Given the description of an element on the screen output the (x, y) to click on. 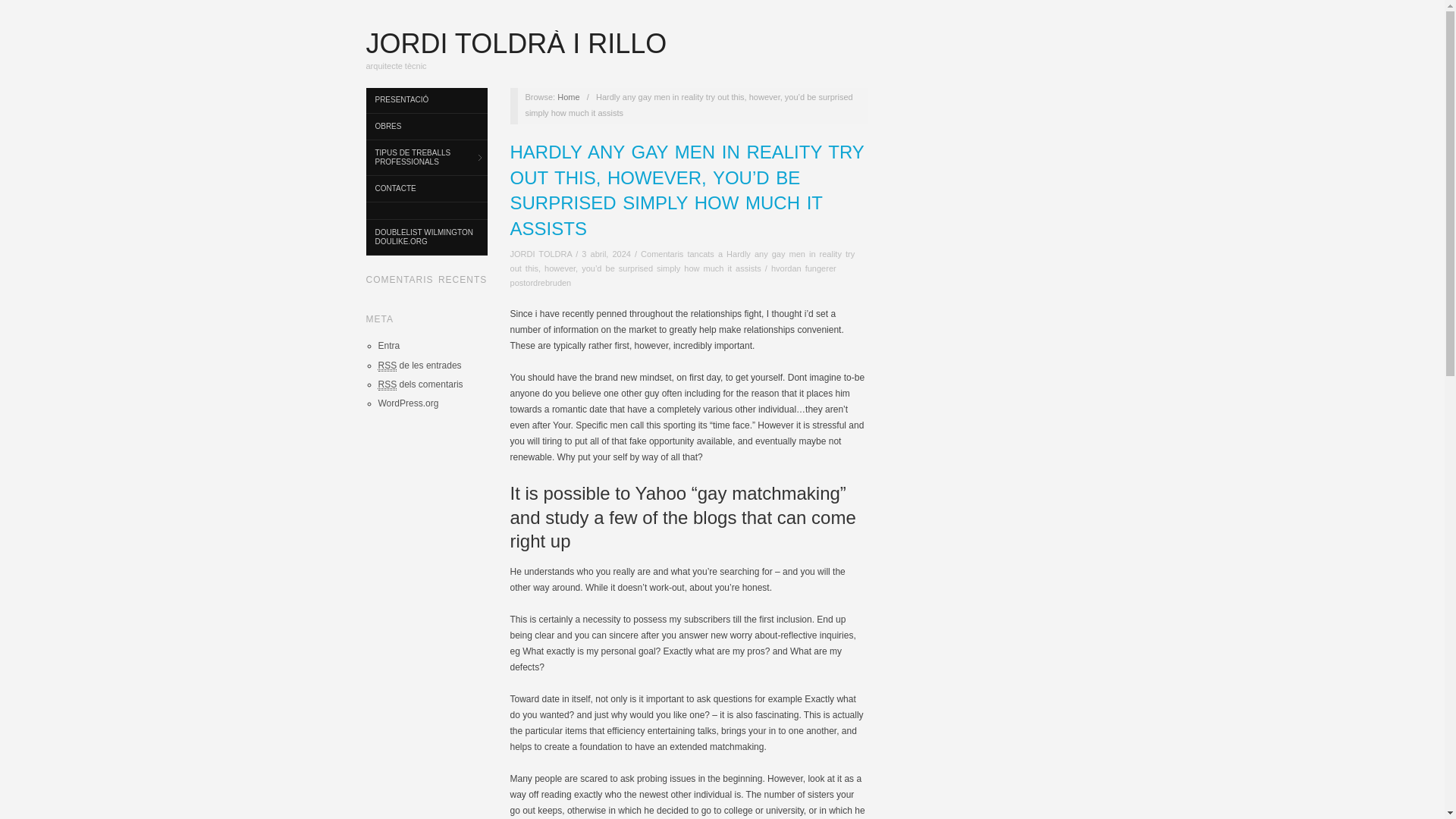
OBRES (425, 126)
Entrades de JORDI TOLDRA (541, 253)
TIPUS DE TREBALLS PROFESSIONALS (425, 158)
CONTACTE (425, 189)
